Given the description of an element on the screen output the (x, y) to click on. 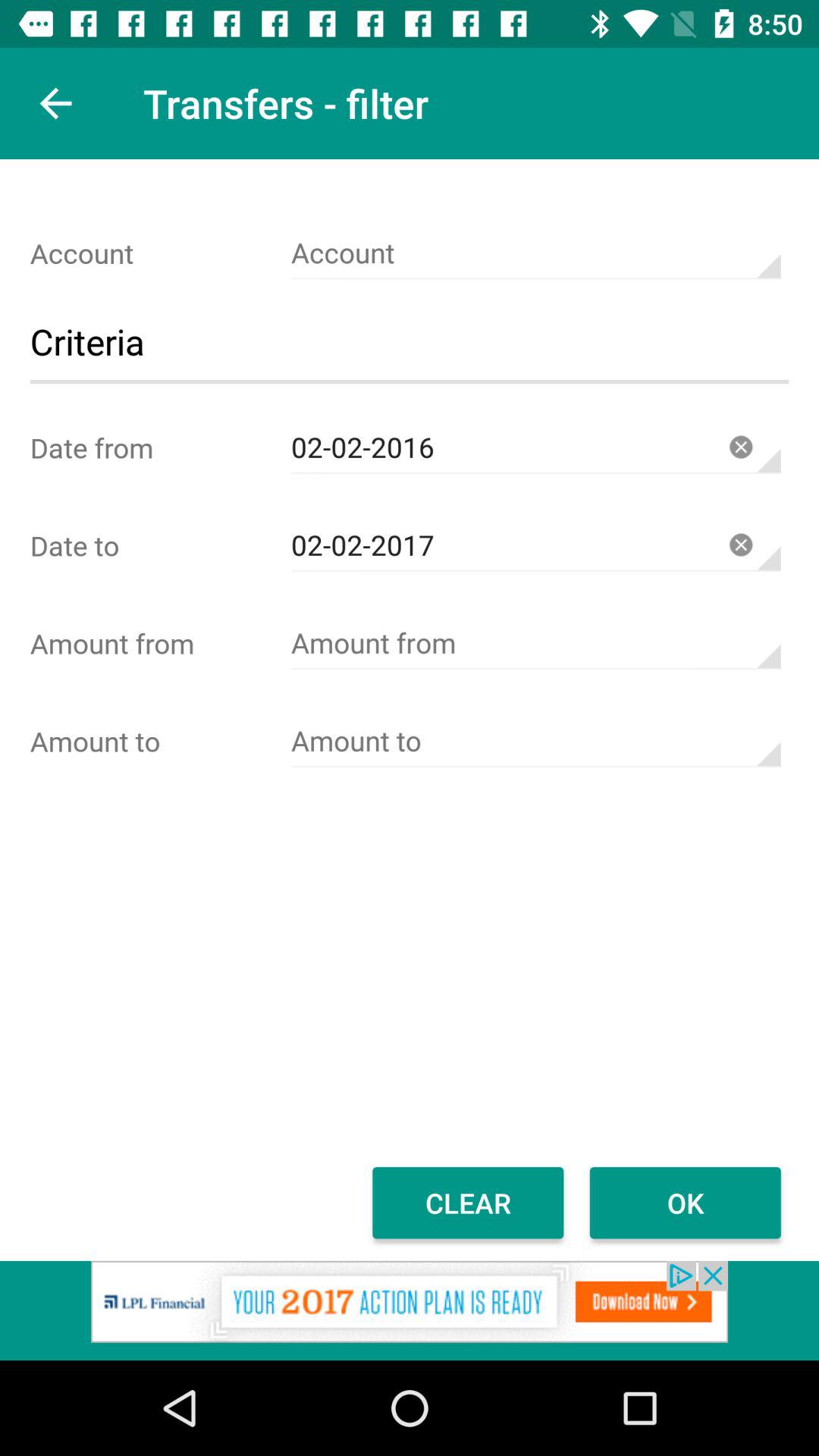
select advertisement (409, 1310)
